Given the description of an element on the screen output the (x, y) to click on. 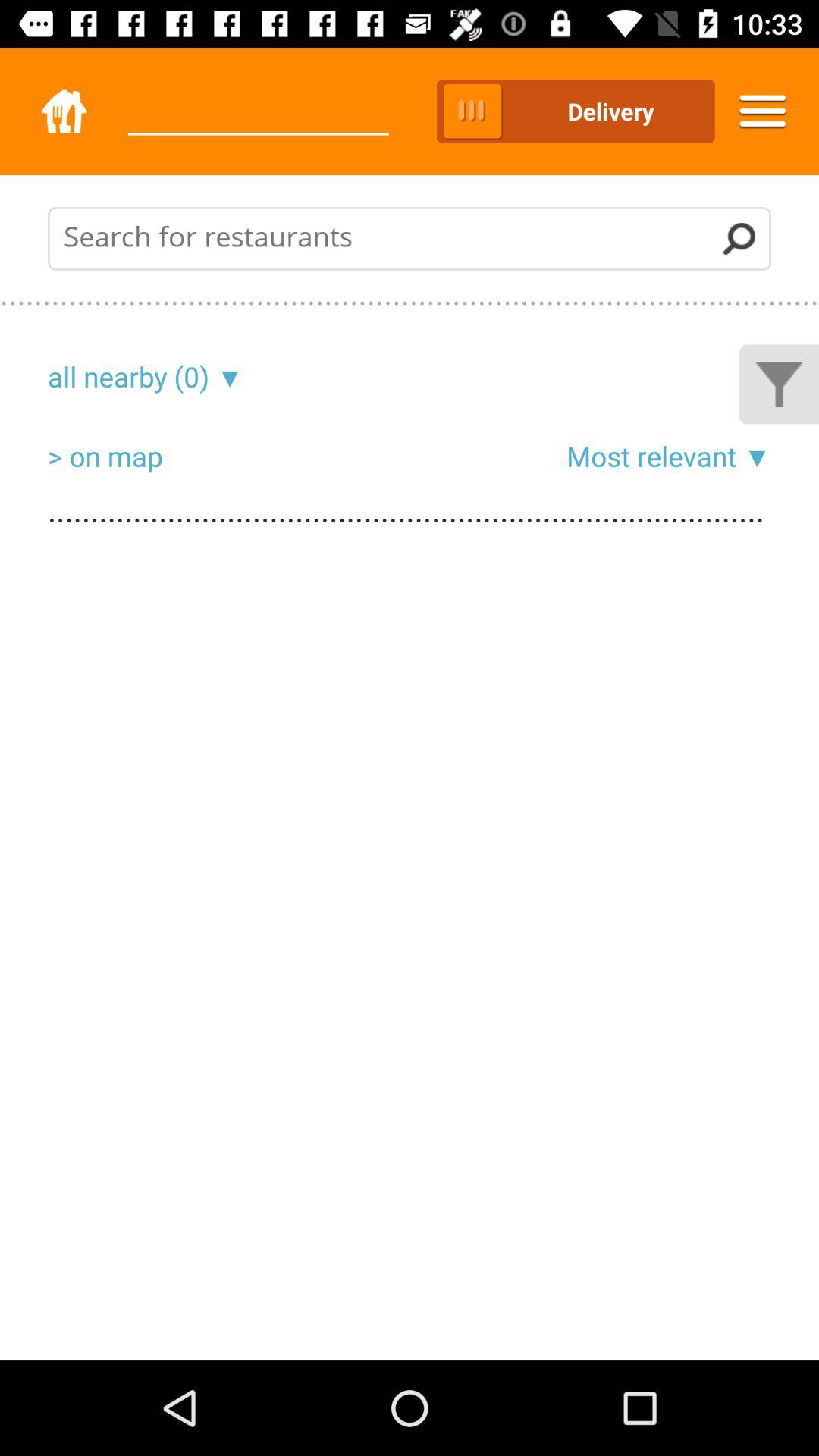
turn on most relevant icon (651, 455)
